Given the description of an element on the screen output the (x, y) to click on. 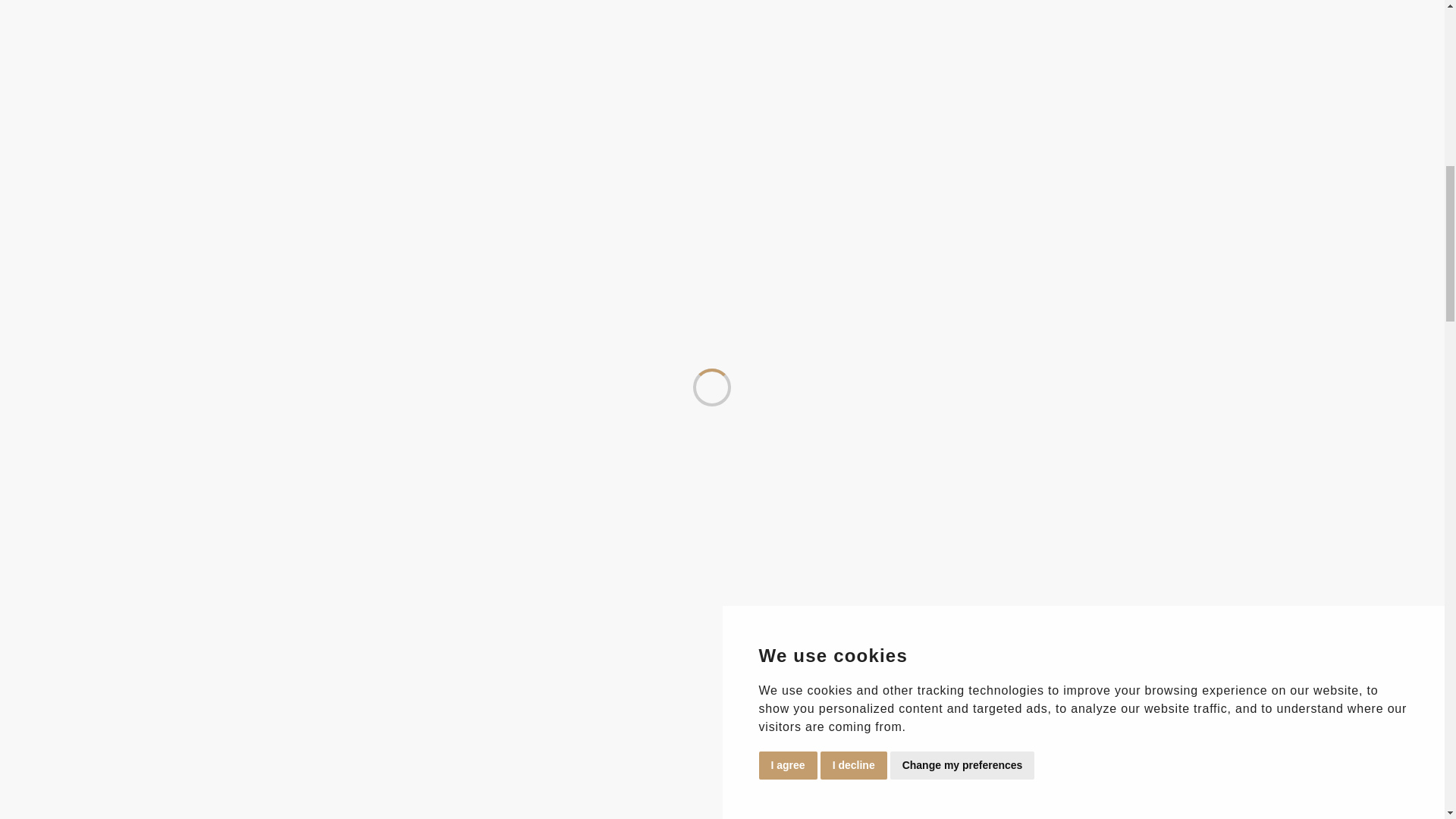
on (23, 485)
on (23, 437)
on (23, 469)
